Given the description of an element on the screen output the (x, y) to click on. 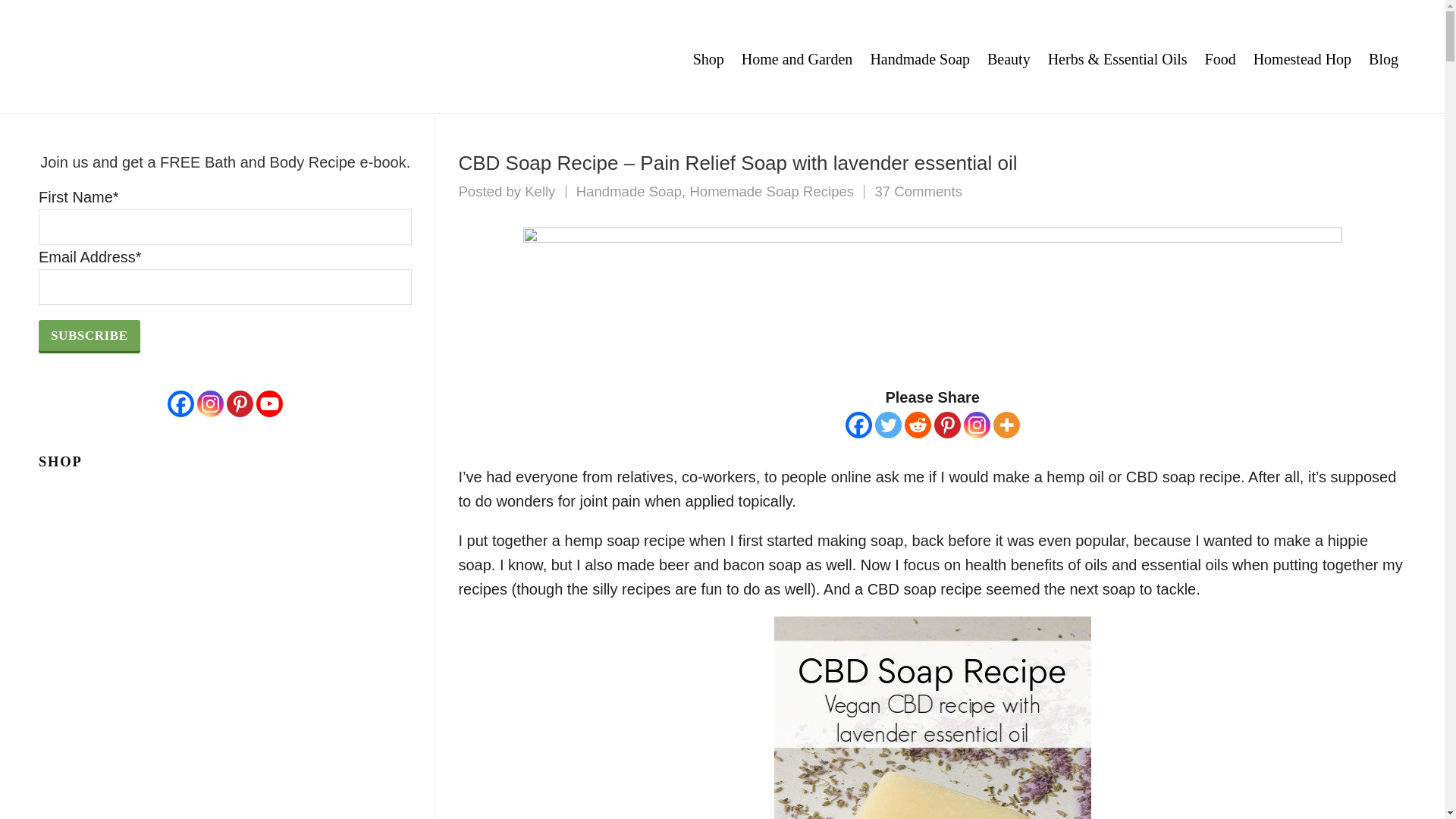
37 Comments (918, 191)
Reddit (917, 424)
Home and Garden (797, 56)
Kelly (539, 191)
Homestead Hop (539, 191)
Homemade Soap Recipes (1301, 56)
Twitter (770, 191)
Subscribe (888, 424)
Handmade Soap (89, 335)
Pinterest (919, 56)
More (947, 424)
Facebook (1006, 424)
Handmade Soap (858, 424)
Instagram (628, 191)
